Given the description of an element on the screen output the (x, y) to click on. 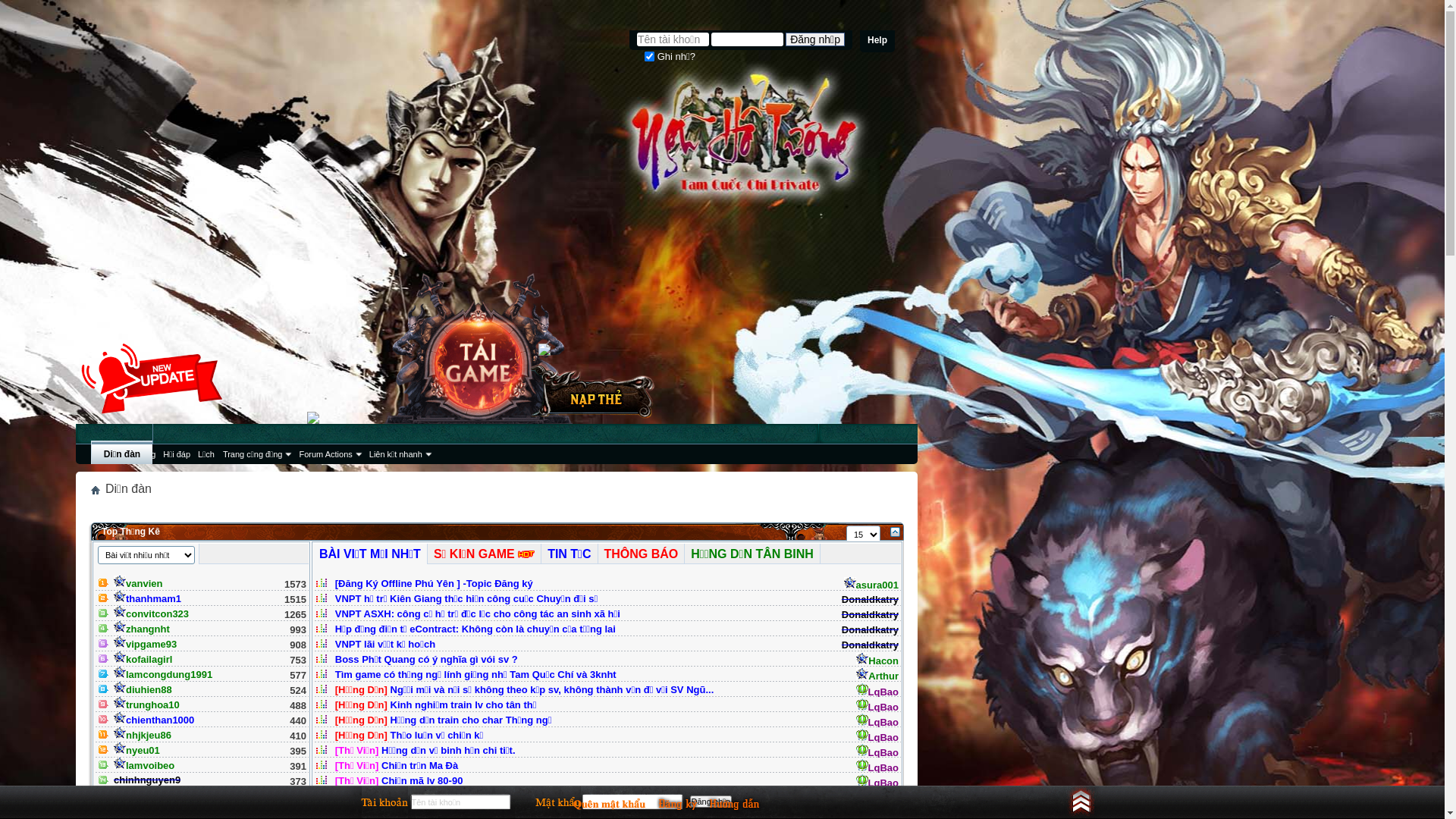
Donaldkatry Element type: text (869, 629)
Donaldkatry Element type: text (869, 614)
vipgame93 Element type: text (144, 643)
LqBao Element type: text (877, 782)
Arthur Element type: text (877, 675)
LqBao Element type: text (877, 706)
LqBao Element type: text (877, 737)
Donaldkatry Element type: text (869, 599)
Forum Actions Element type: text (329, 454)
LqBao Element type: text (877, 691)
Collapse this Category Element type: hover (895, 531)
chinhnguyen9 Element type: text (146, 779)
LqBao Element type: text (877, 722)
diuhien88 Element type: text (142, 689)
lamcongdung1991 Element type: text (162, 674)
Hacon Element type: text (877, 660)
vanvien Element type: text (137, 583)
shyaken Element type: text (139, 795)
Home Element type: hover (95, 489)
LqBao Element type: text (877, 752)
chienthan1000 Element type: text (153, 719)
zhangnht Element type: text (141, 628)
LqBao Element type: text (877, 797)
lamvoibeo Element type: text (143, 765)
asura001 Element type: text (871, 584)
trunghoa10 Element type: text (146, 704)
Help Element type: text (876, 41)
nyeu01 Element type: text (136, 750)
LqBao Element type: text (877, 767)
Donaldkatry Element type: text (869, 644)
thanhmam1 Element type: text (147, 598)
kofailagirl Element type: text (142, 659)
convitcon323 Element type: text (150, 613)
nhjkjeu86 Element type: text (142, 734)
